Given the description of an element on the screen output the (x, y) to click on. 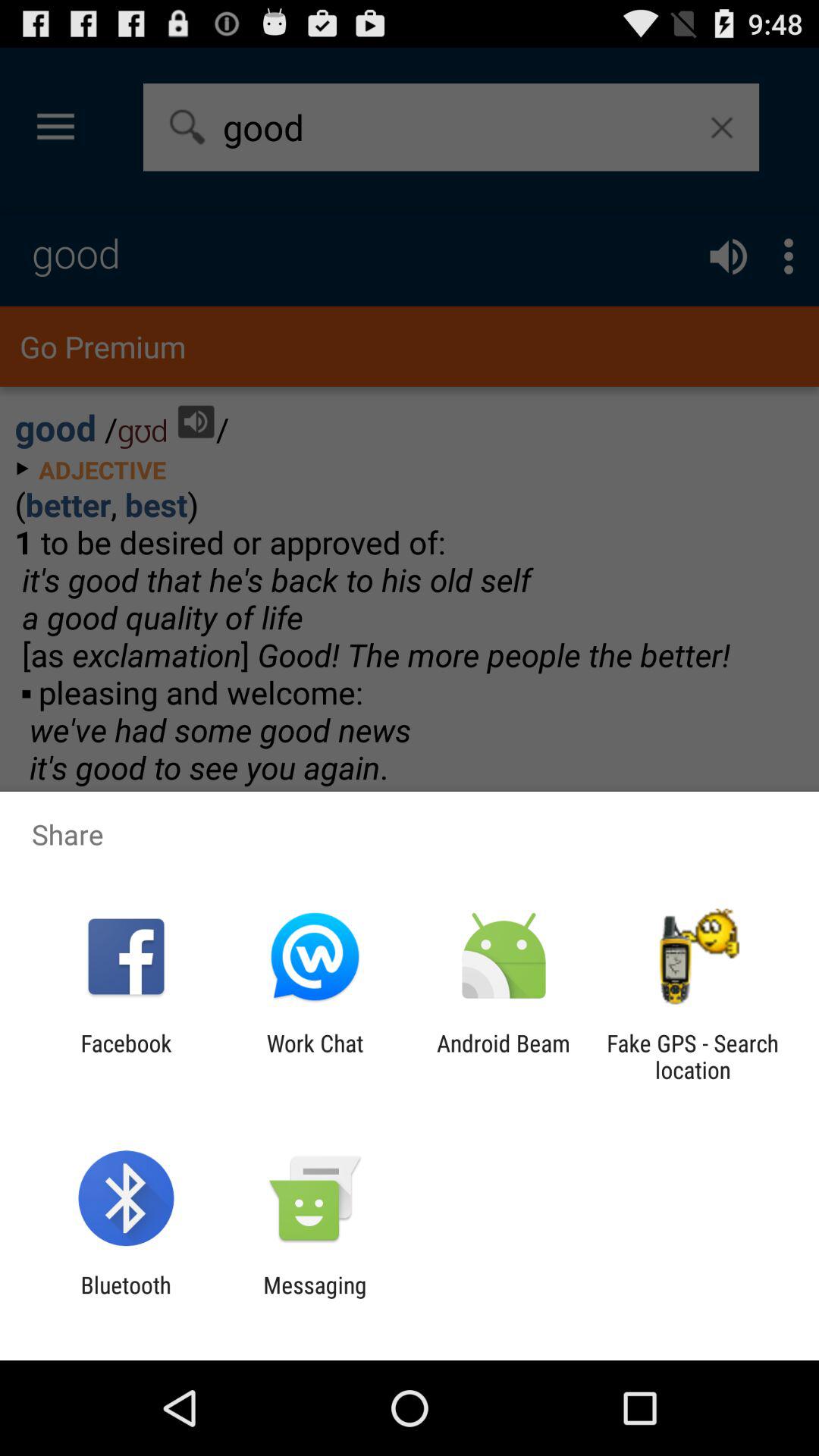
turn on the item next to fake gps search (503, 1056)
